Given the description of an element on the screen output the (x, y) to click on. 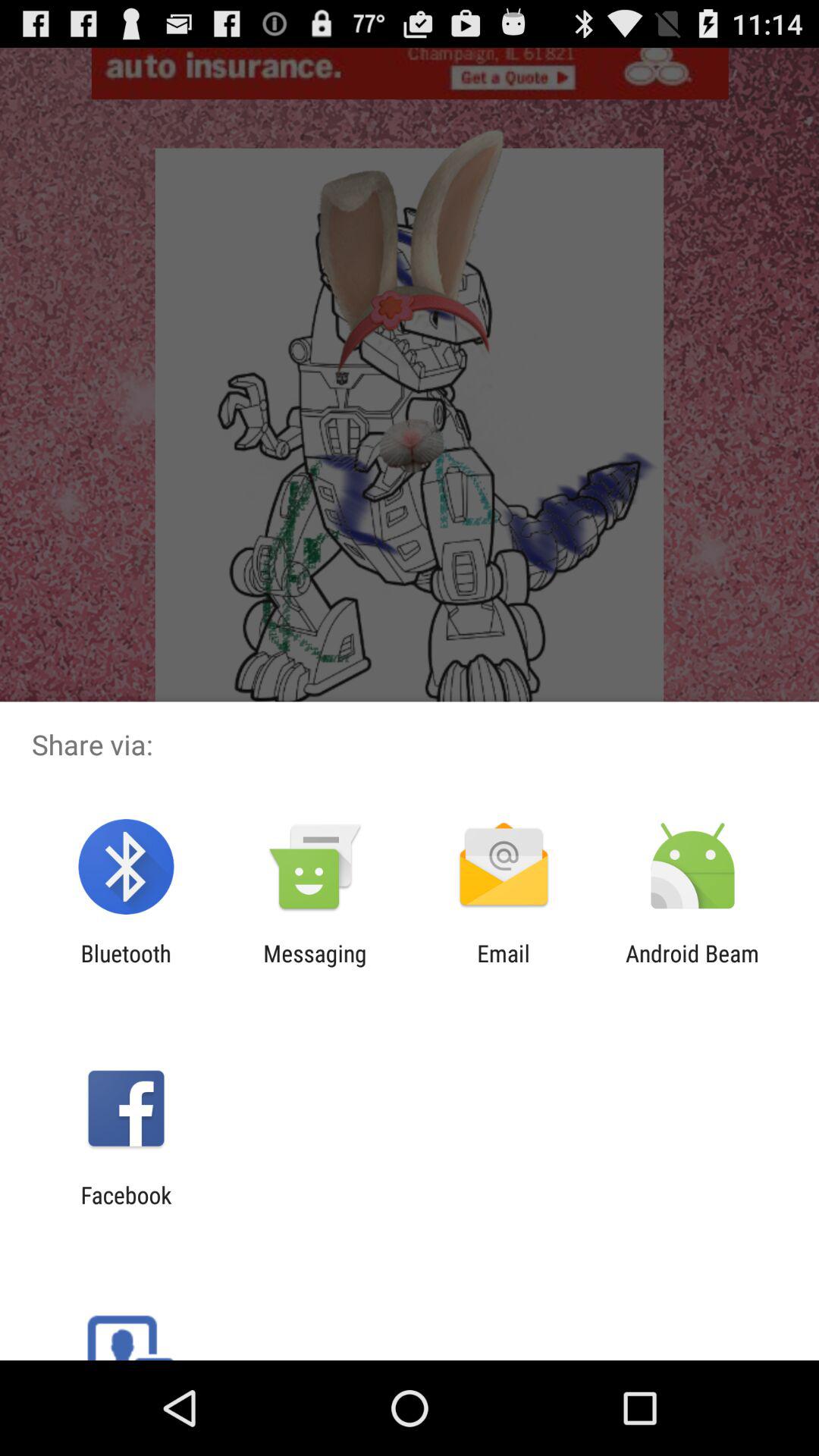
launch icon to the right of the messaging app (503, 966)
